Given the description of an element on the screen output the (x, y) to click on. 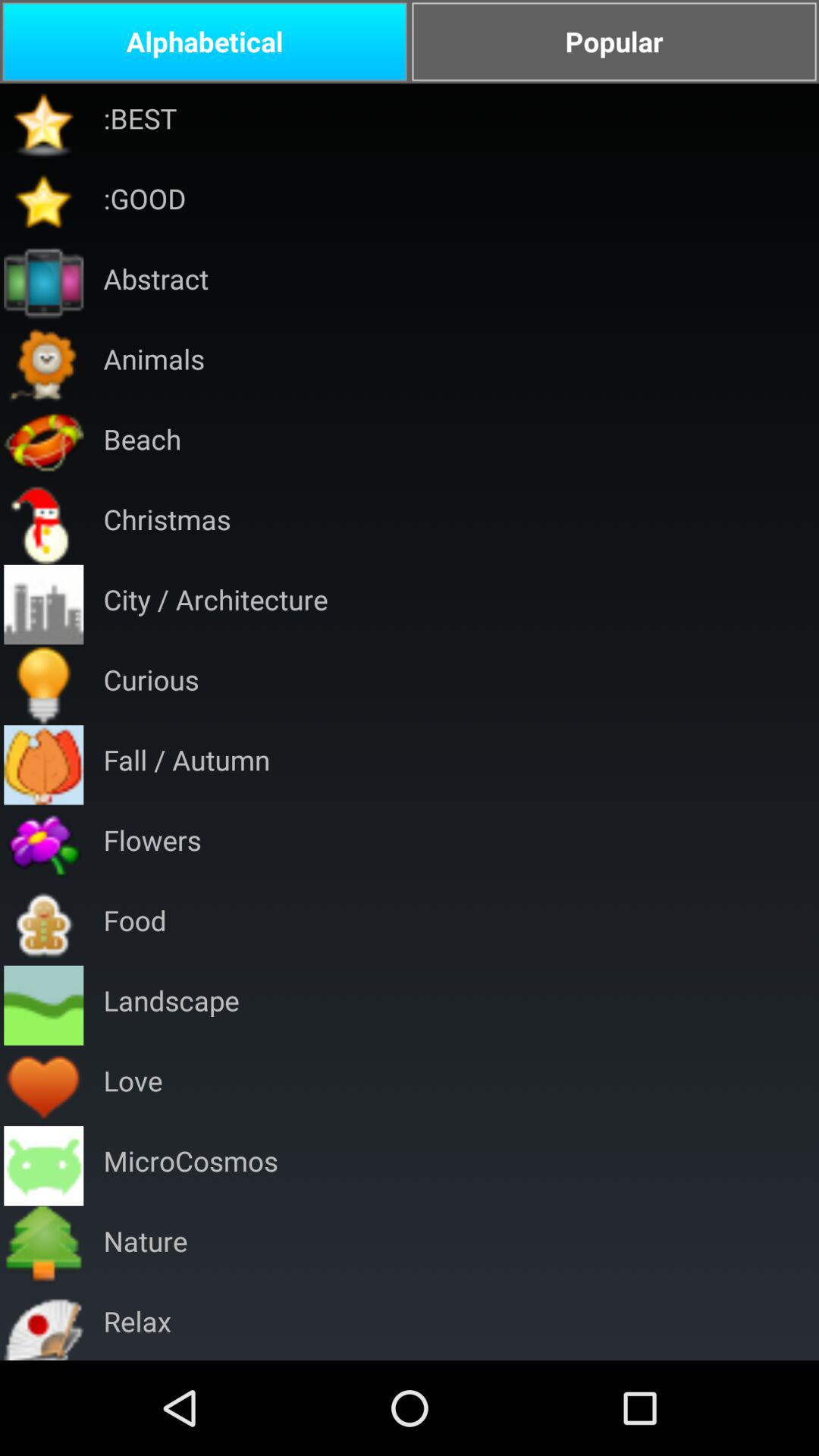
select christmas (166, 524)
